Given the description of an element on the screen output the (x, y) to click on. 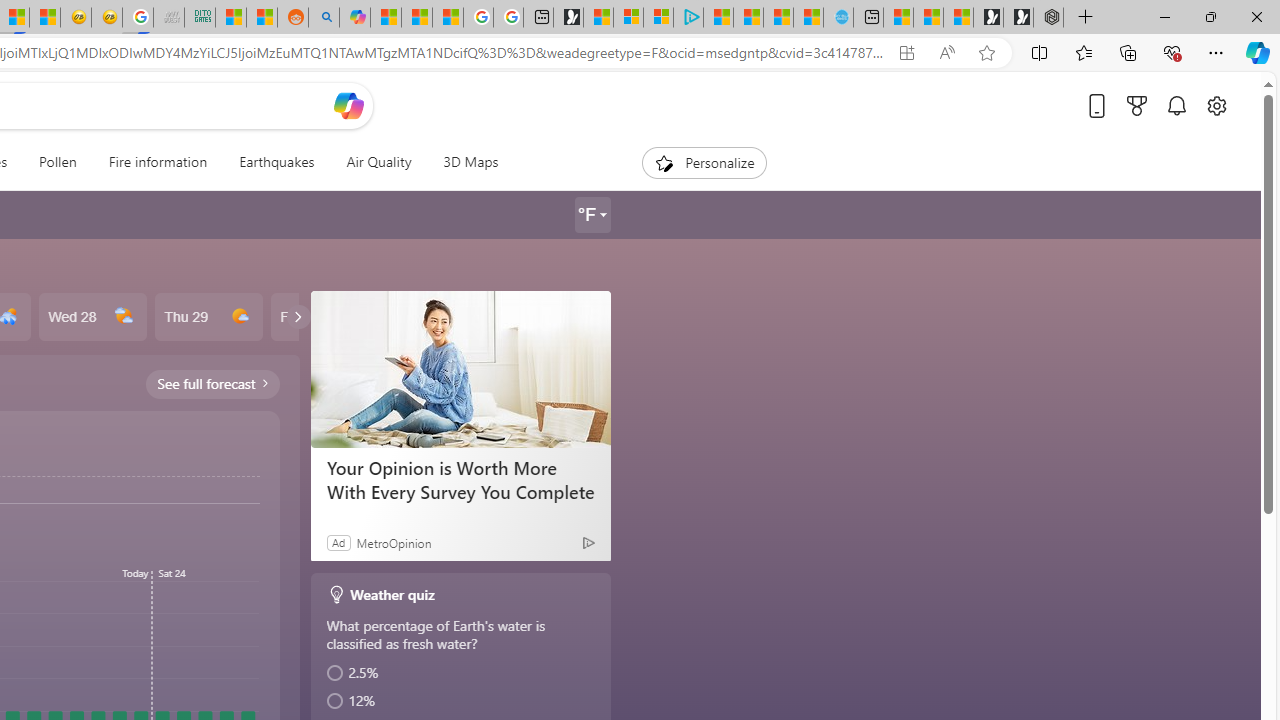
Weather settings (591, 215)
Thu 29 (207, 317)
Air Quality (378, 162)
Close (1256, 16)
Browser essentials (1171, 52)
App available. Install Microsoft Start Weather (906, 53)
Notifications (1176, 105)
Microsoft account | Privacy (658, 17)
3D Maps (463, 162)
New Tab (1085, 17)
Nordace - Nordace Siena Is Not An Ordinary Backpack (1048, 17)
Copilot (Ctrl+Shift+.) (1258, 52)
